Given the description of an element on the screen output the (x, y) to click on. 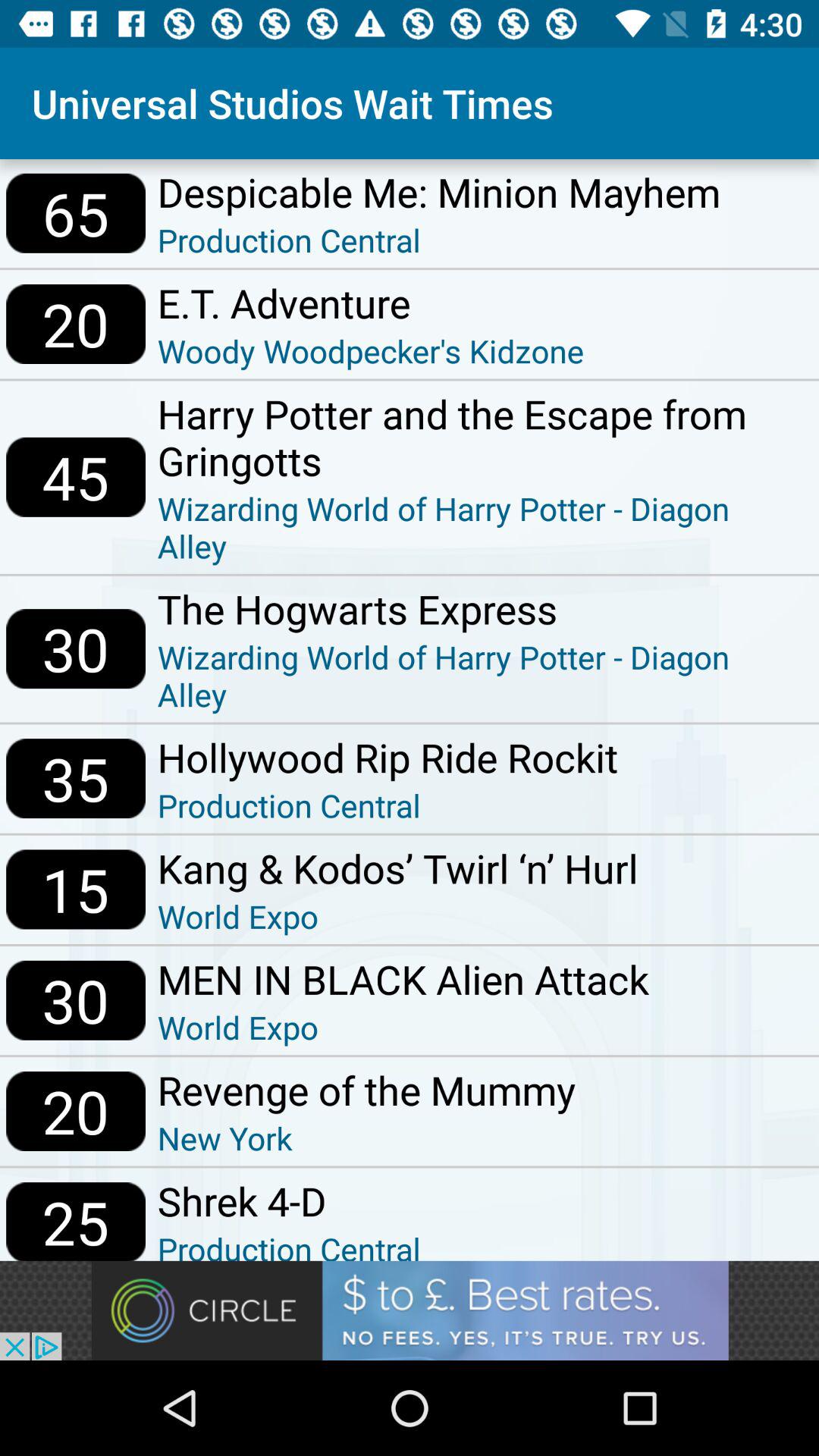
jump to kang kodos twirl (397, 867)
